Given the description of an element on the screen output the (x, y) to click on. 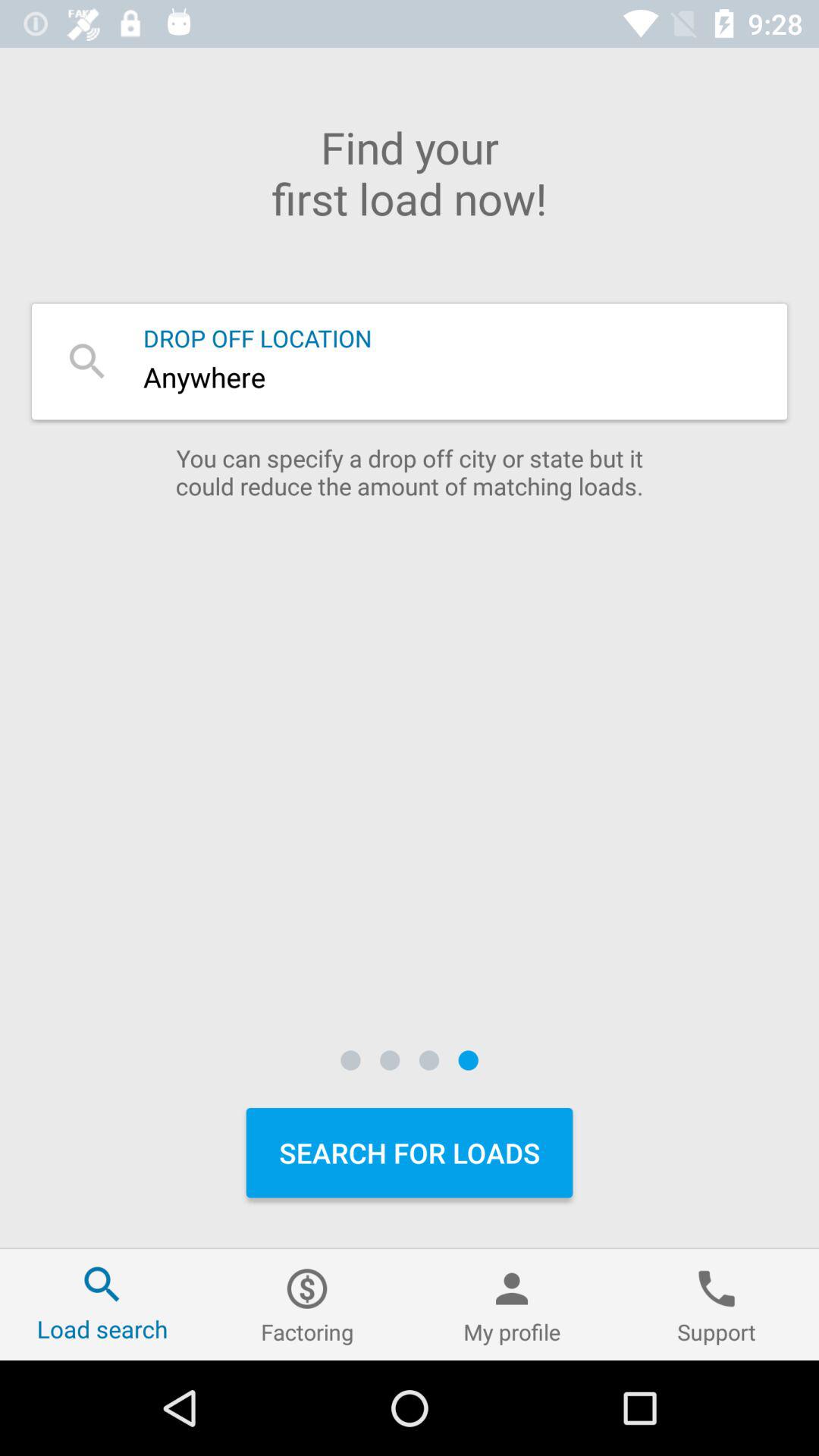
open the icon at the bottom right corner (716, 1304)
